Given the description of an element on the screen output the (x, y) to click on. 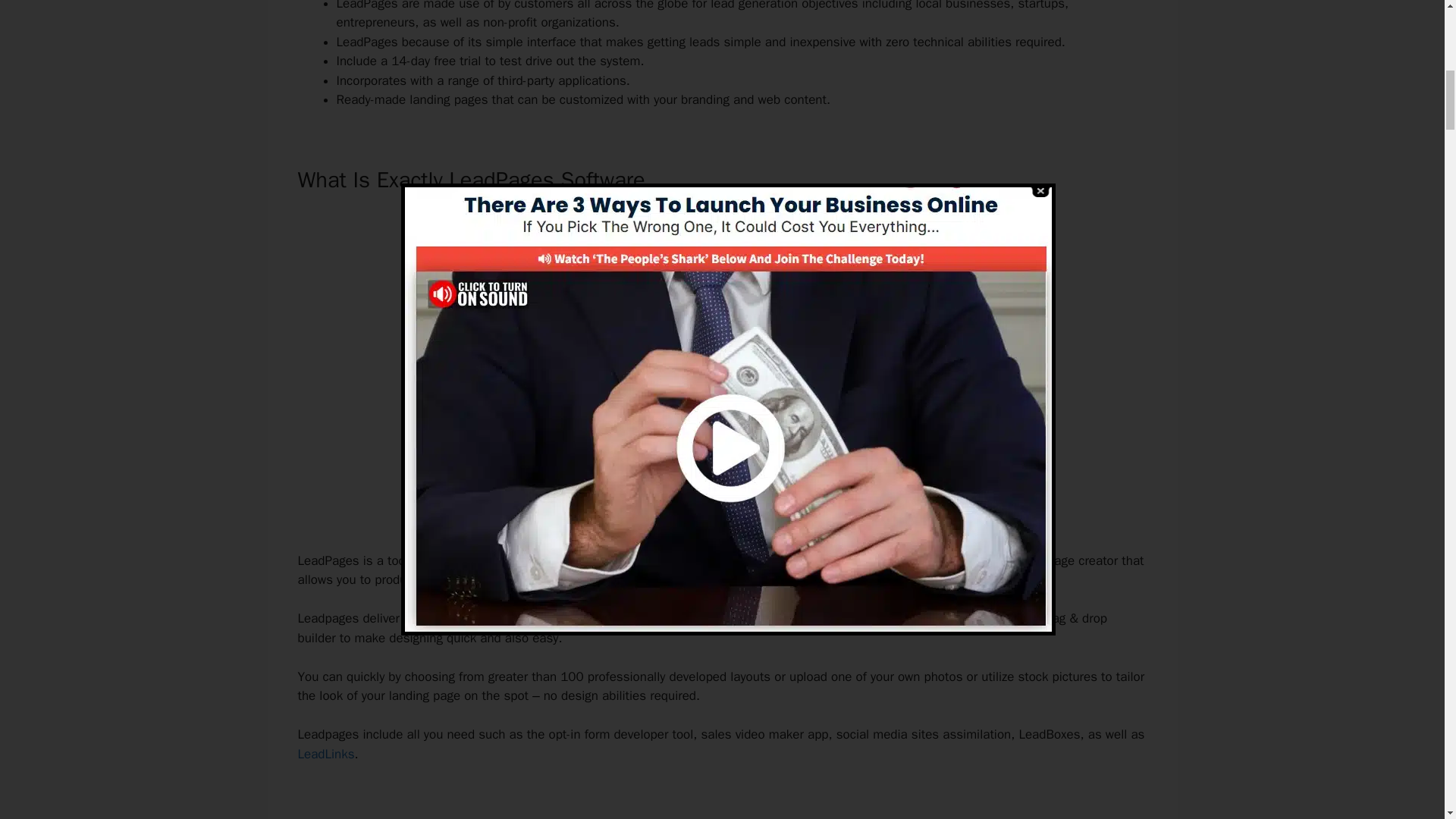
LeadLinks (325, 754)
lead generation (555, 579)
Click Here To Find Out More (722, 508)
